Given the description of an element on the screen output the (x, y) to click on. 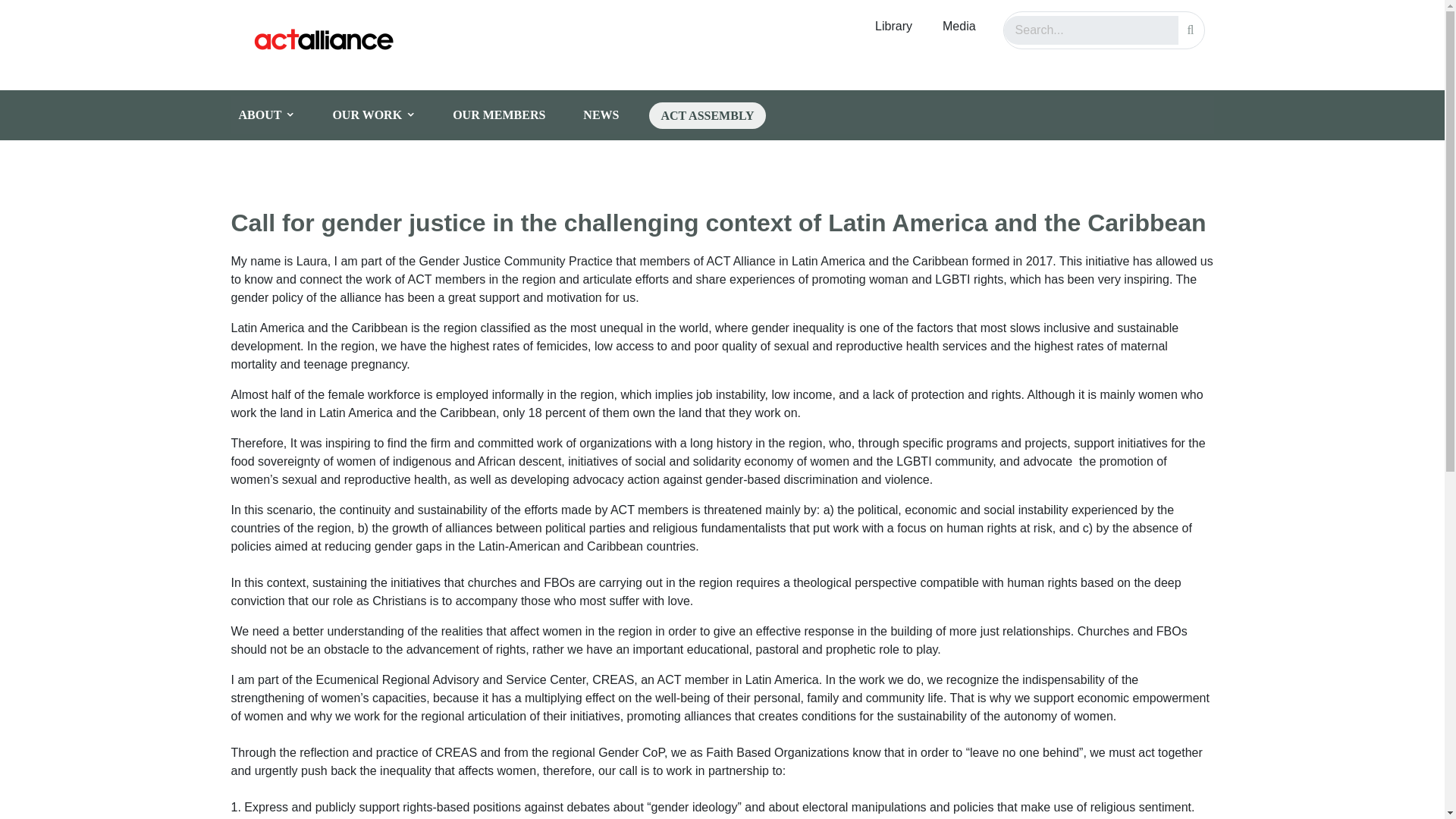
ABOUT (277, 115)
Library (893, 26)
Media (959, 26)
OUR MEMBERS (510, 115)
OUR WORK (384, 115)
ACT ASSEMBLY (707, 114)
NEWS (612, 115)
